Given the description of an element on the screen output the (x, y) to click on. 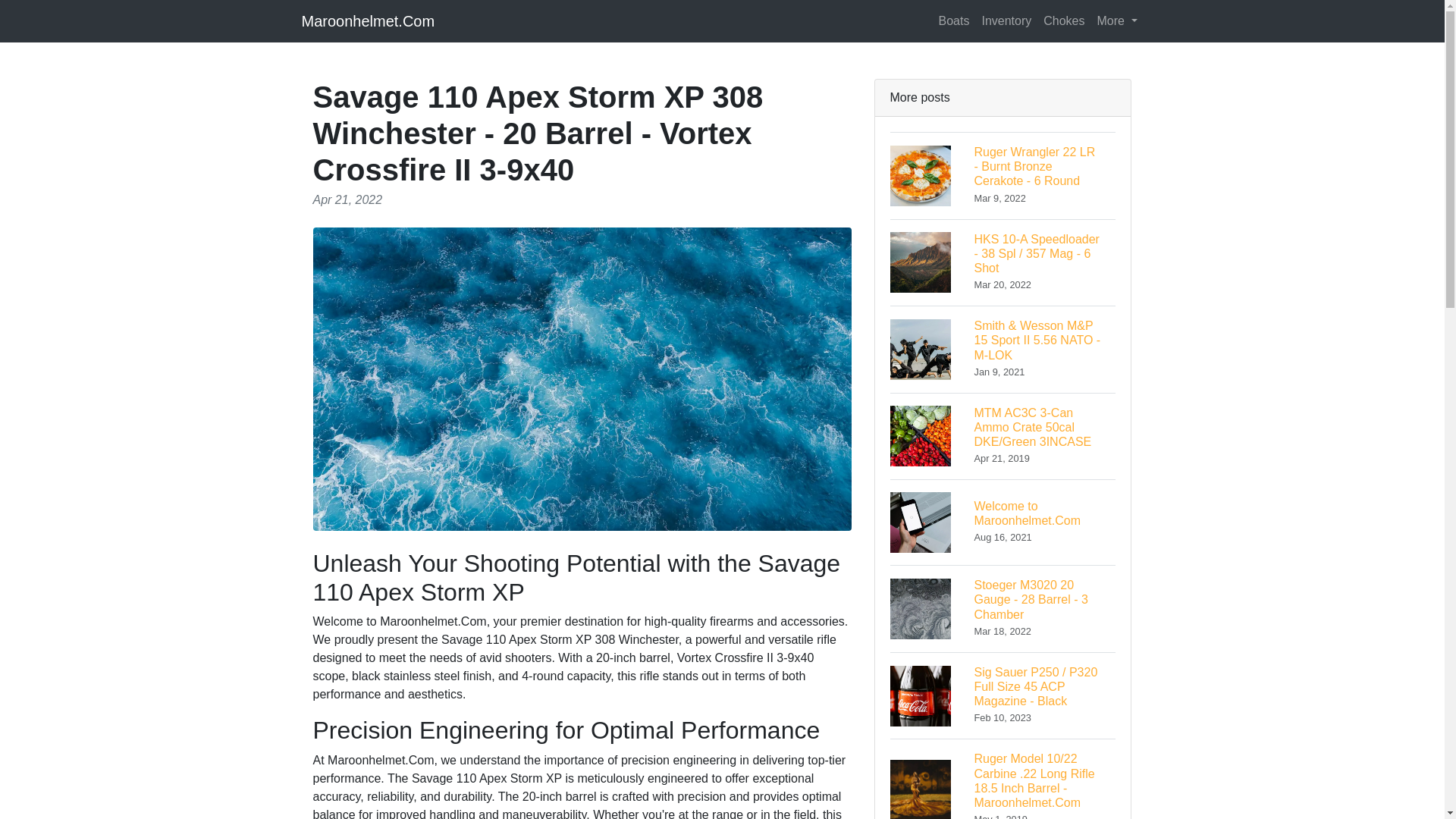
Chokes (1063, 20)
Maroonhelmet.Com (368, 20)
Boats (954, 20)
More (1002, 608)
Inventory (1002, 522)
